Given the description of an element on the screen output the (x, y) to click on. 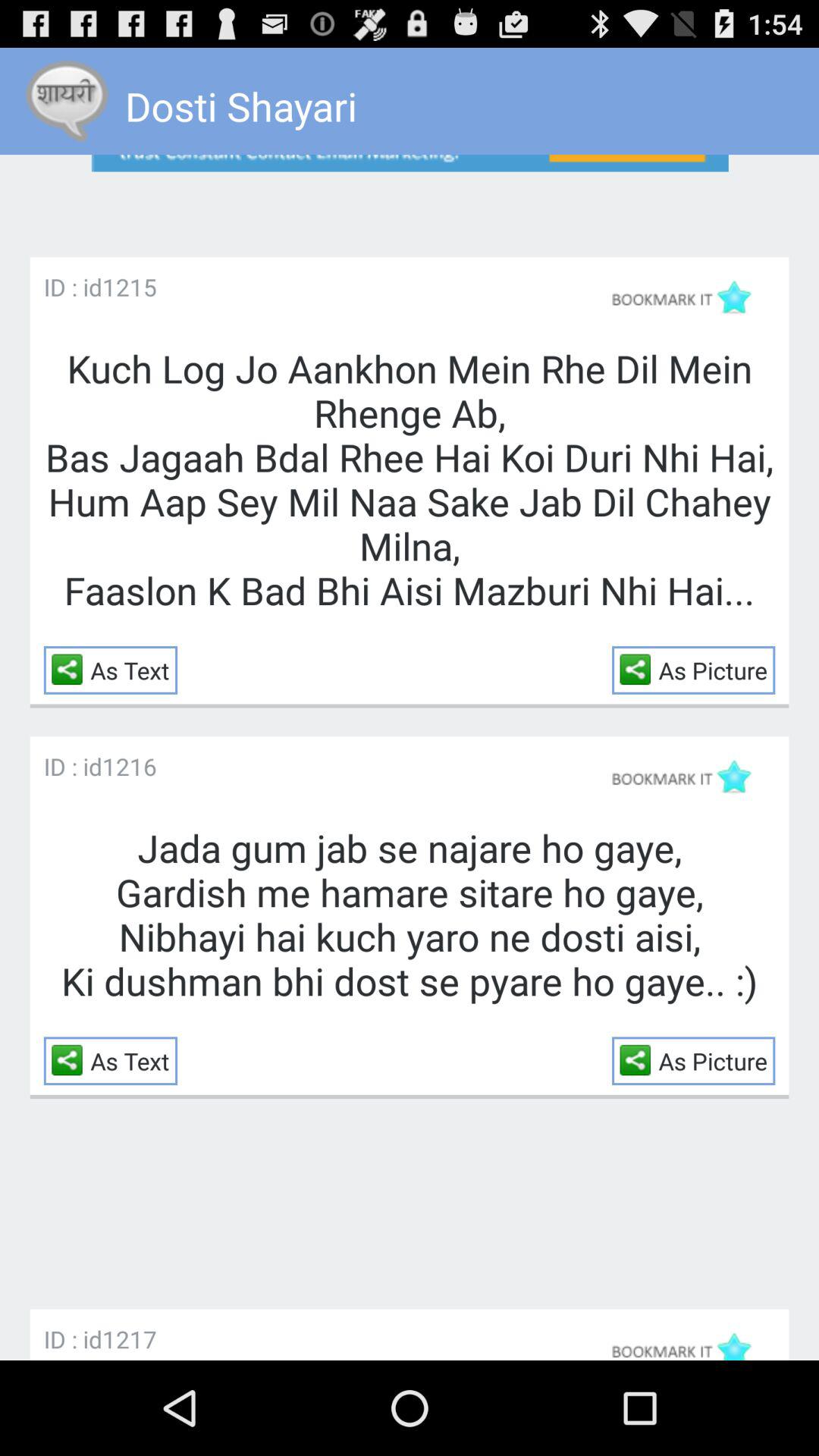
click to bookmark (688, 776)
